Given the description of an element on the screen output the (x, y) to click on. 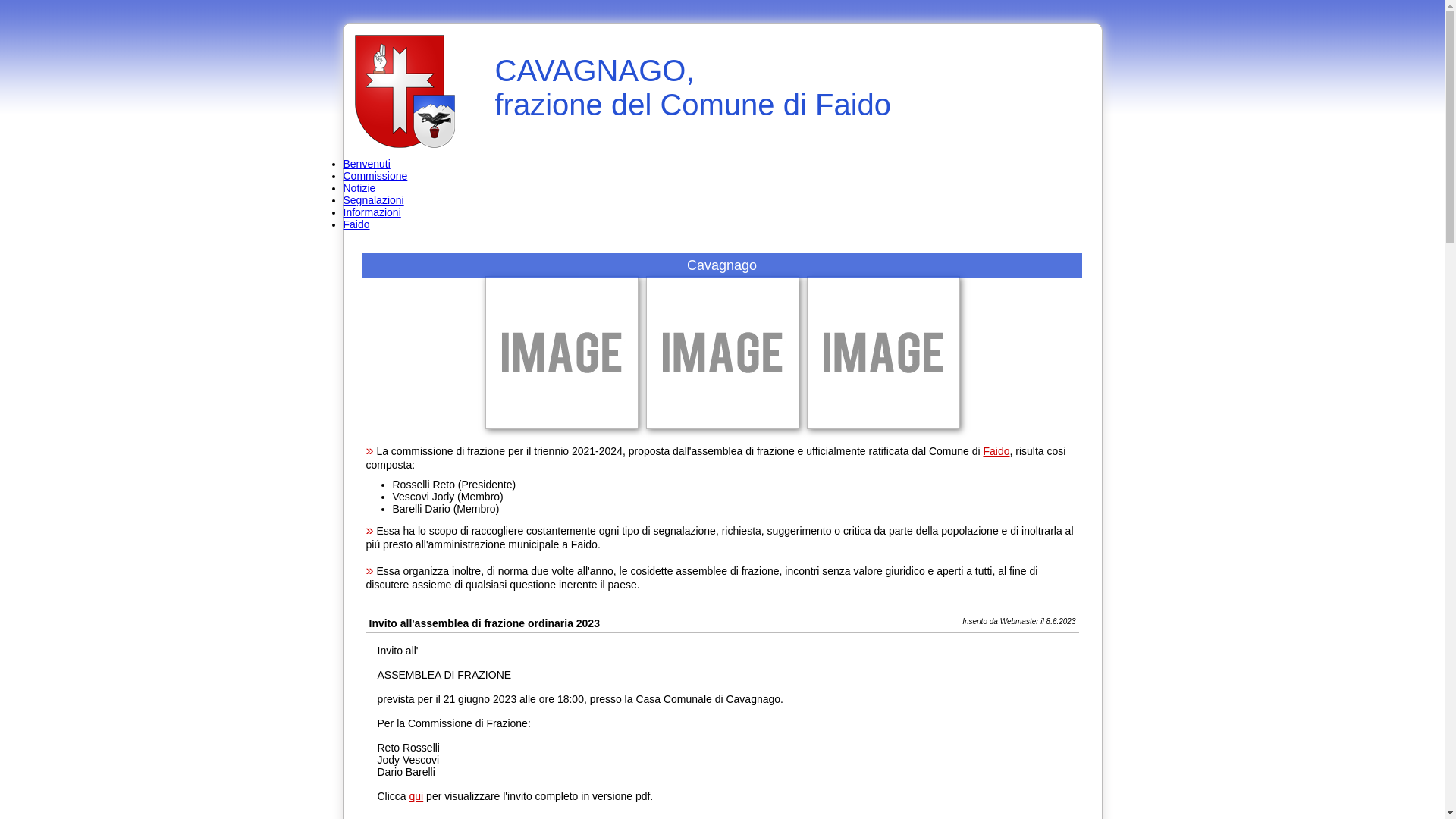
www.cavagnago.ch Element type: hover (404, 91)
Segnalazioni Element type: text (372, 200)
Commissione Element type: text (374, 175)
Informazioni Element type: text (371, 212)
Faido Element type: text (355, 224)
Faido Element type: text (995, 451)
Notizie Element type: text (358, 188)
Benvenuti Element type: text (365, 163)
qui Element type: text (416, 796)
